Given the description of an element on the screen output the (x, y) to click on. 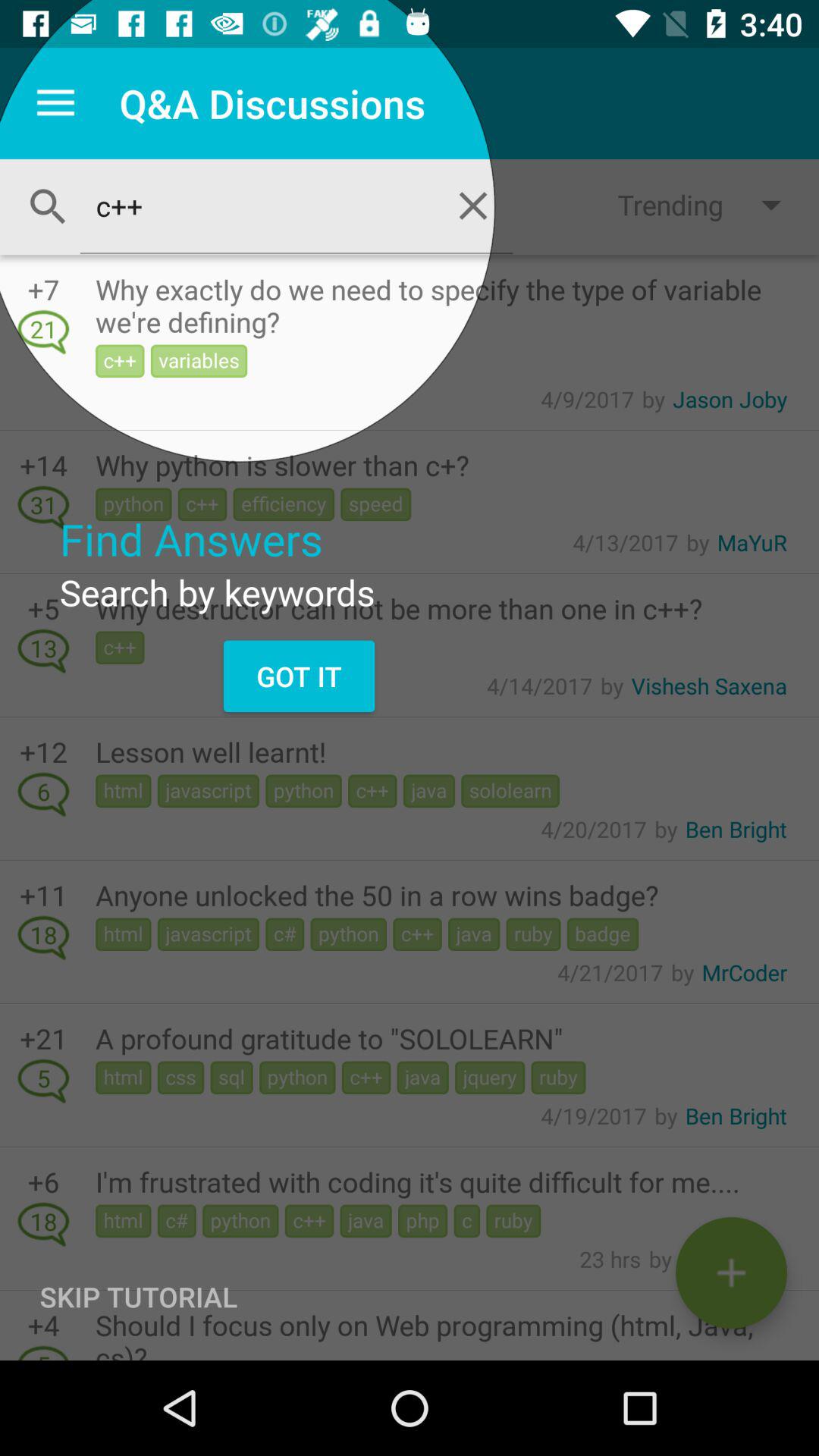
add to favorites (731, 1272)
